Given the description of an element on the screen output the (x, y) to click on. 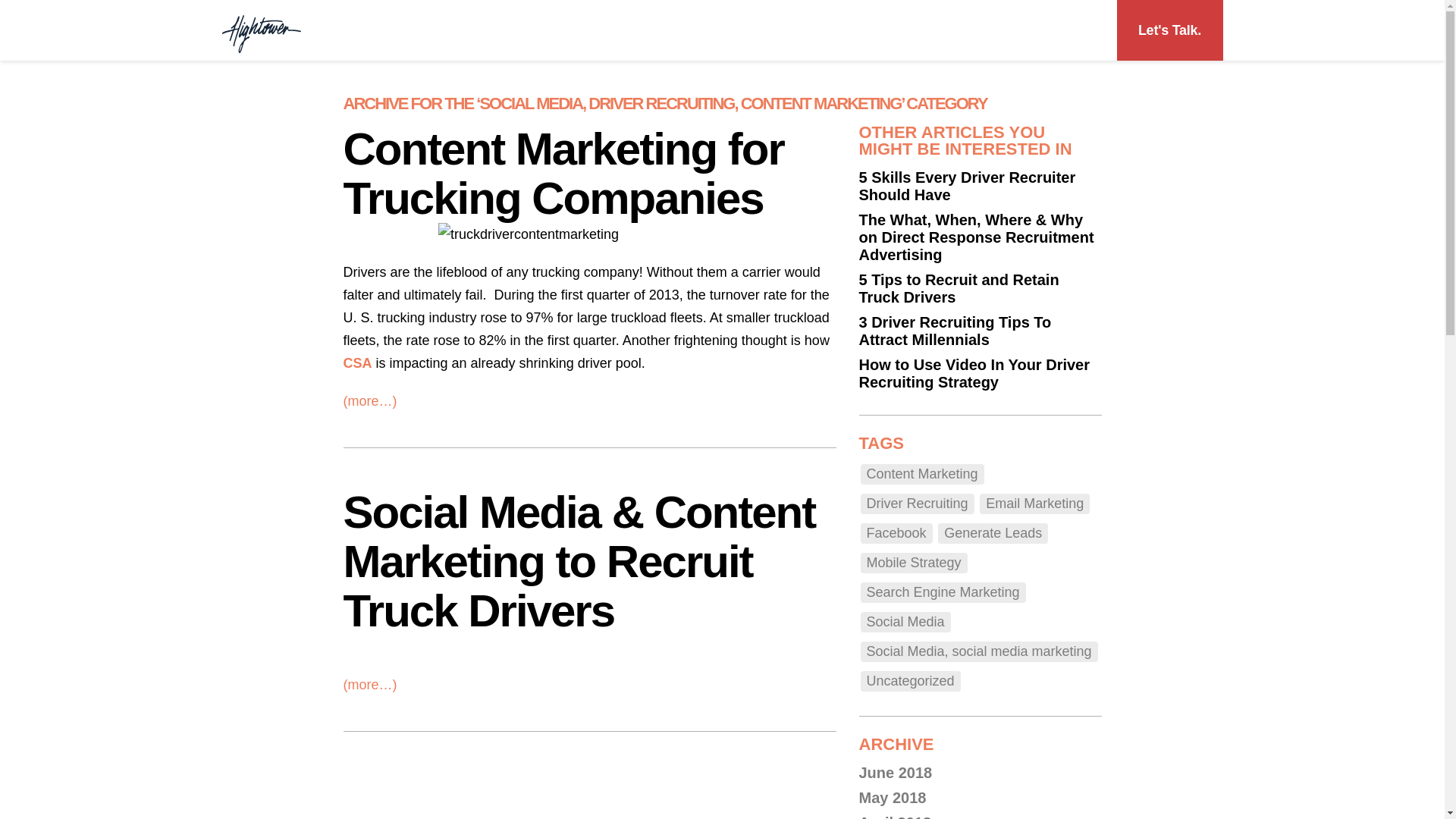
Email Marketing (1034, 503)
5 Skills Every Driver Recruiter Should Have (967, 185)
Social Media (905, 621)
Let's Talk. (1169, 30)
Driver Recruiting (917, 503)
April 2018 (895, 816)
Let's Talk. (1169, 29)
Uncategorized (909, 680)
Mobile Strategy (913, 562)
Content Marketing (922, 474)
5 Tips to Recruit and Retain Truck Drivers (958, 288)
Social Media, social media marketing (978, 651)
3 Driver Recruiting Tips To Attract Millennials (955, 330)
Generate Leads (992, 533)
How to Use Video In Your Driver Recruiting Strategy (974, 373)
